Given the description of an element on the screen output the (x, y) to click on. 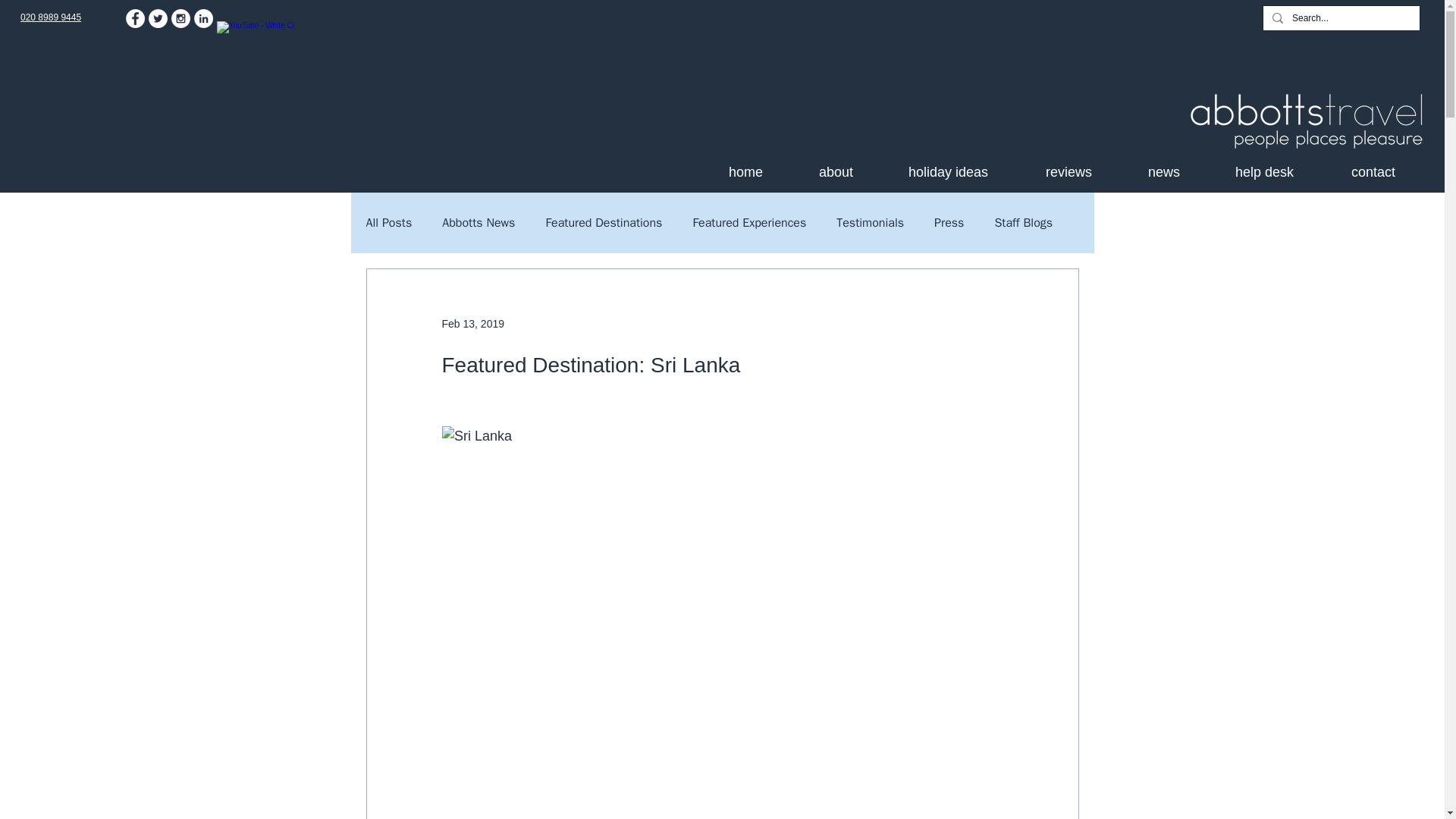
home (765, 171)
Staff Blogs (1023, 222)
020 8989 9445 (50, 17)
news (1183, 171)
Featured Destinations (603, 222)
All Posts (388, 222)
Testimonials (869, 222)
Featured Experiences (749, 222)
Abbotts News (478, 222)
Feb 13, 2019 (472, 322)
